Given the description of an element on the screen output the (x, y) to click on. 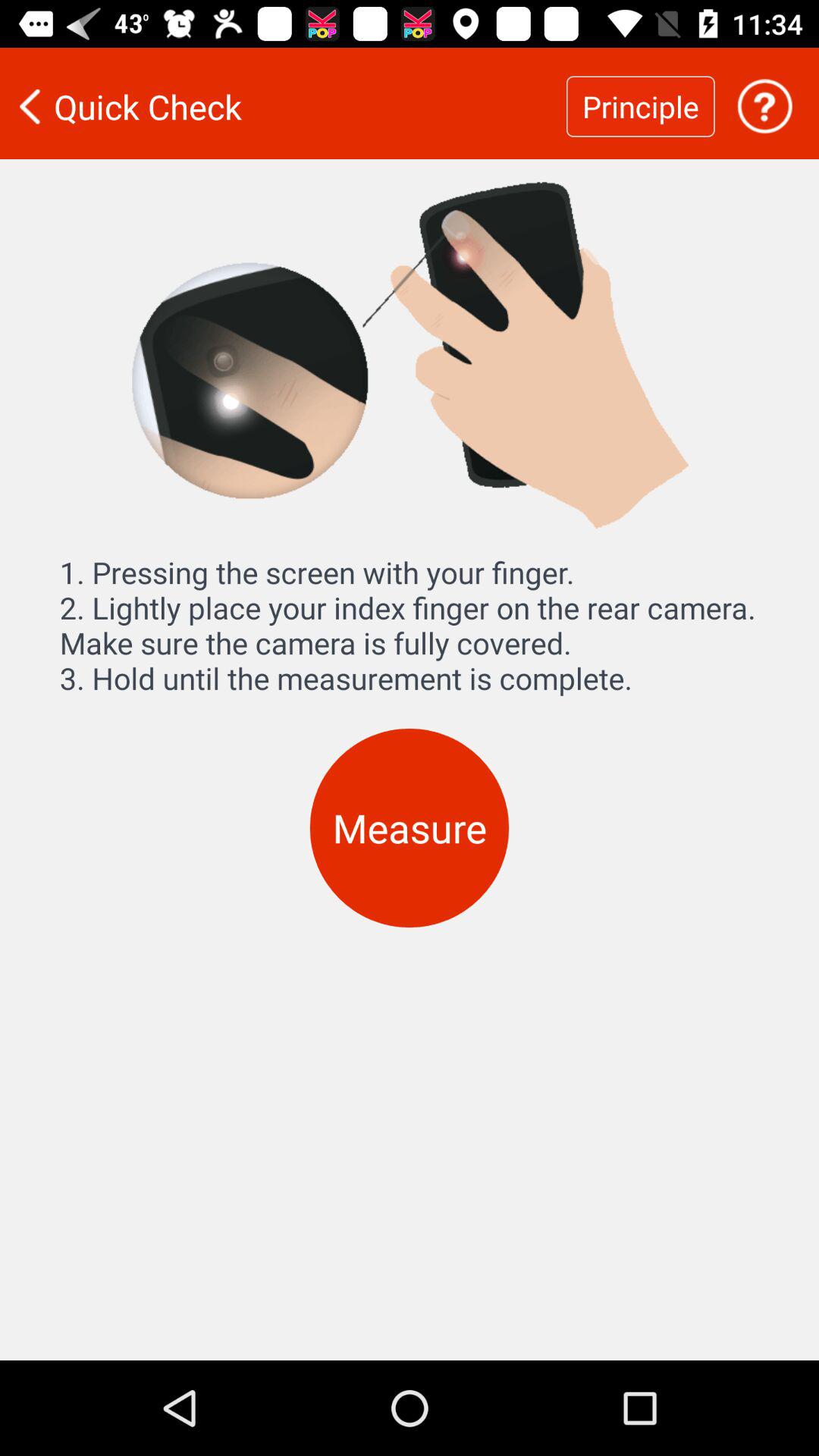
flip to the measure icon (409, 827)
